Given the description of an element on the screen output the (x, y) to click on. 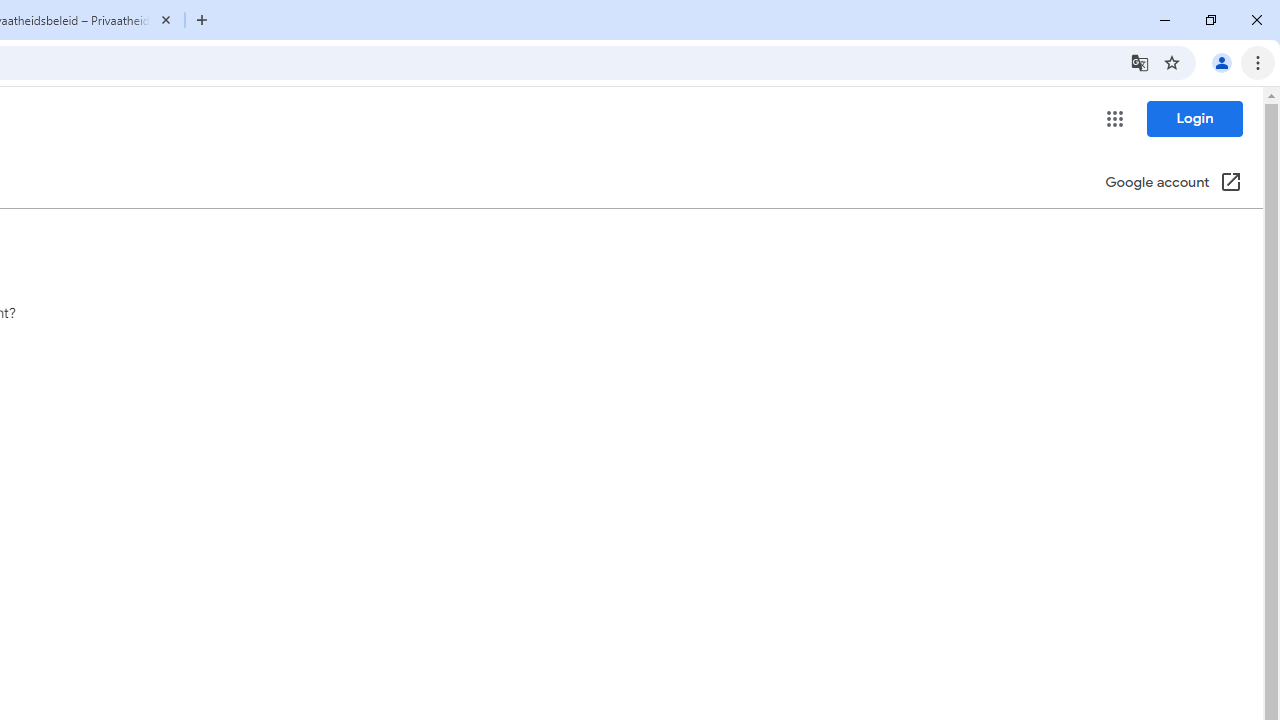
Translate this page (1139, 62)
Login (1194, 118)
Google Account (Opens in new window) (1173, 183)
